Given the description of an element on the screen output the (x, y) to click on. 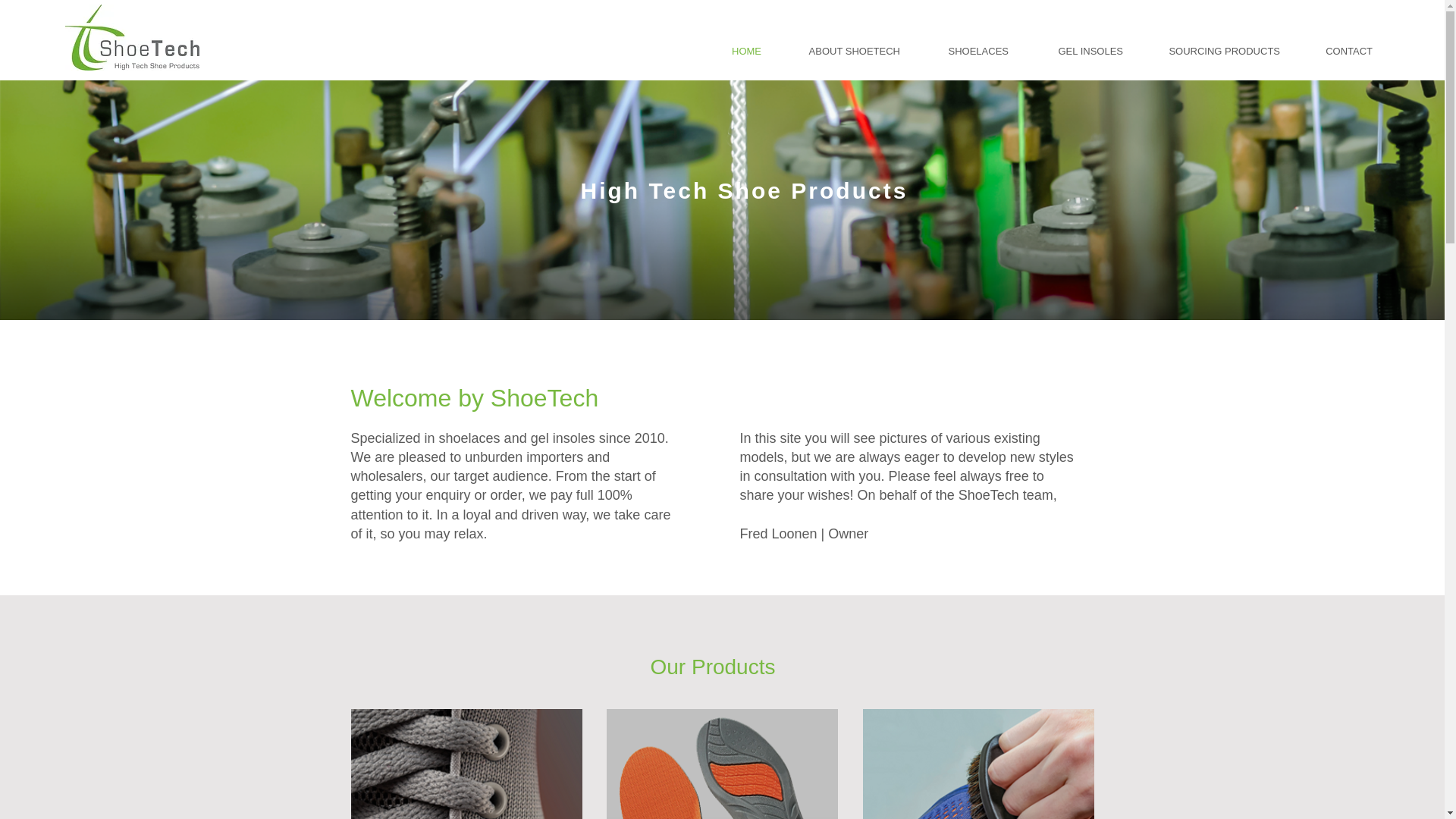
Weg Van Het platteland (722, 764)
GEL INSOLES (1077, 51)
Weg Van Het platteland (465, 764)
SHOELACES (965, 51)
CONTACT (1337, 51)
ABOUT SHOETECH (842, 51)
Weg Van Het platteland (978, 764)
HOME (734, 51)
SOURCING PRODUCTS (1212, 51)
